Given the description of an element on the screen output the (x, y) to click on. 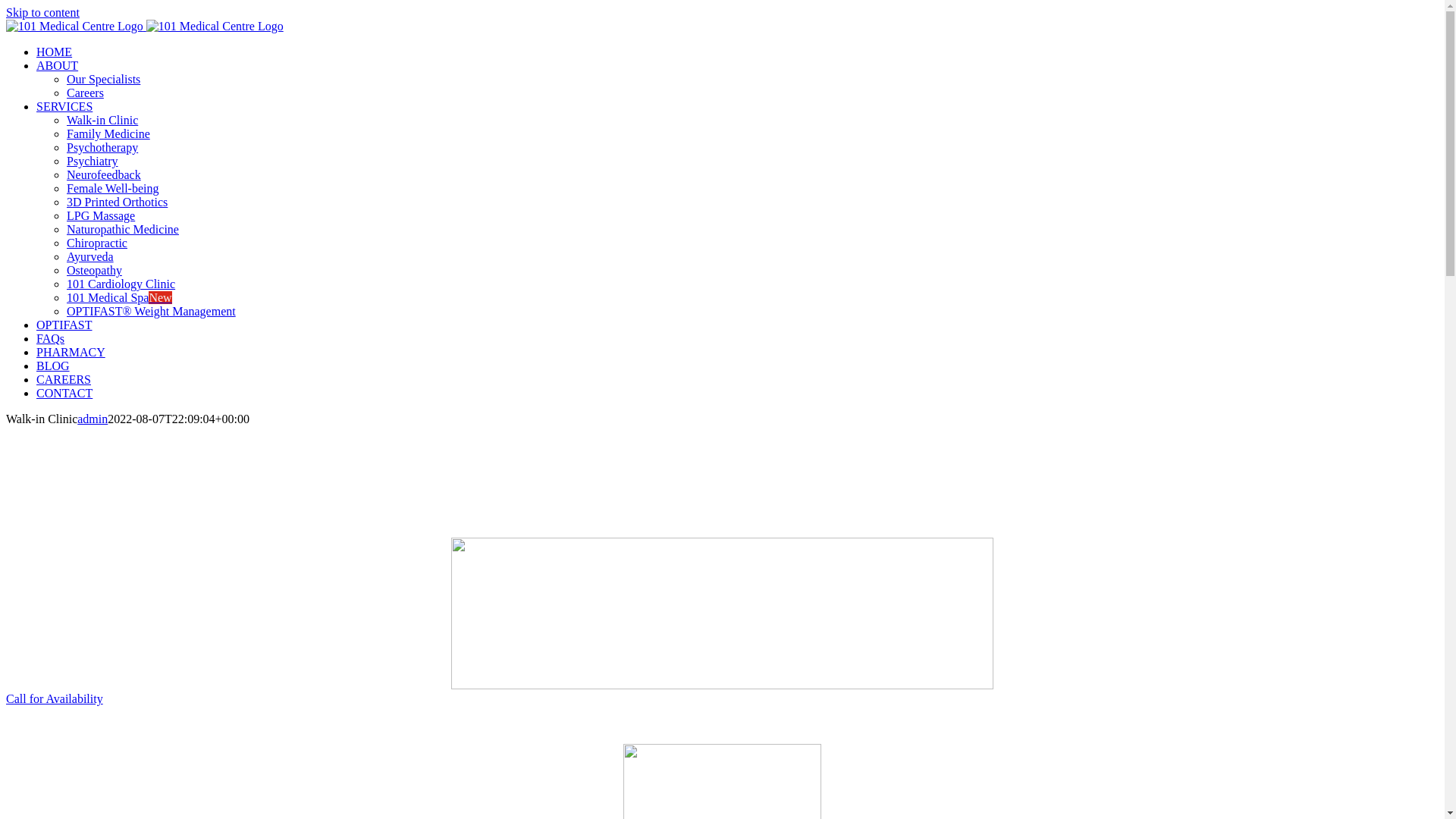
Psychotherapy Element type: text (102, 147)
CAREERS Element type: text (63, 379)
Our Specialists Element type: text (103, 78)
BLOG Element type: text (52, 365)
Walk-in Clinic Element type: text (102, 119)
Naturopathic Medicine Element type: text (122, 228)
always_caring_always_here_white Element type: hover (722, 613)
ABOUT Element type: text (57, 65)
Skip to content Element type: text (42, 12)
Call for Availability Element type: text (54, 698)
Chiropractic Element type: text (96, 242)
admin Element type: text (92, 418)
3D Printed Orthotics Element type: text (116, 201)
OPTIFAST Element type: text (64, 324)
Family Medicine Element type: text (108, 133)
101 Cardiology Clinic Element type: text (120, 283)
FAQs Element type: text (50, 338)
101 Medical SpaNew Element type: text (119, 297)
Female Well-being Element type: text (112, 188)
Ayurveda Element type: text (89, 256)
Neurofeedback Element type: text (103, 174)
HOME Element type: text (54, 51)
Careers Element type: text (84, 92)
PHARMACY Element type: text (70, 351)
LPG Massage Element type: text (100, 215)
Osteopathy Element type: text (94, 269)
CONTACT Element type: text (64, 392)
SERVICES Element type: text (64, 106)
Psychiatry Element type: text (92, 160)
